Given the description of an element on the screen output the (x, y) to click on. 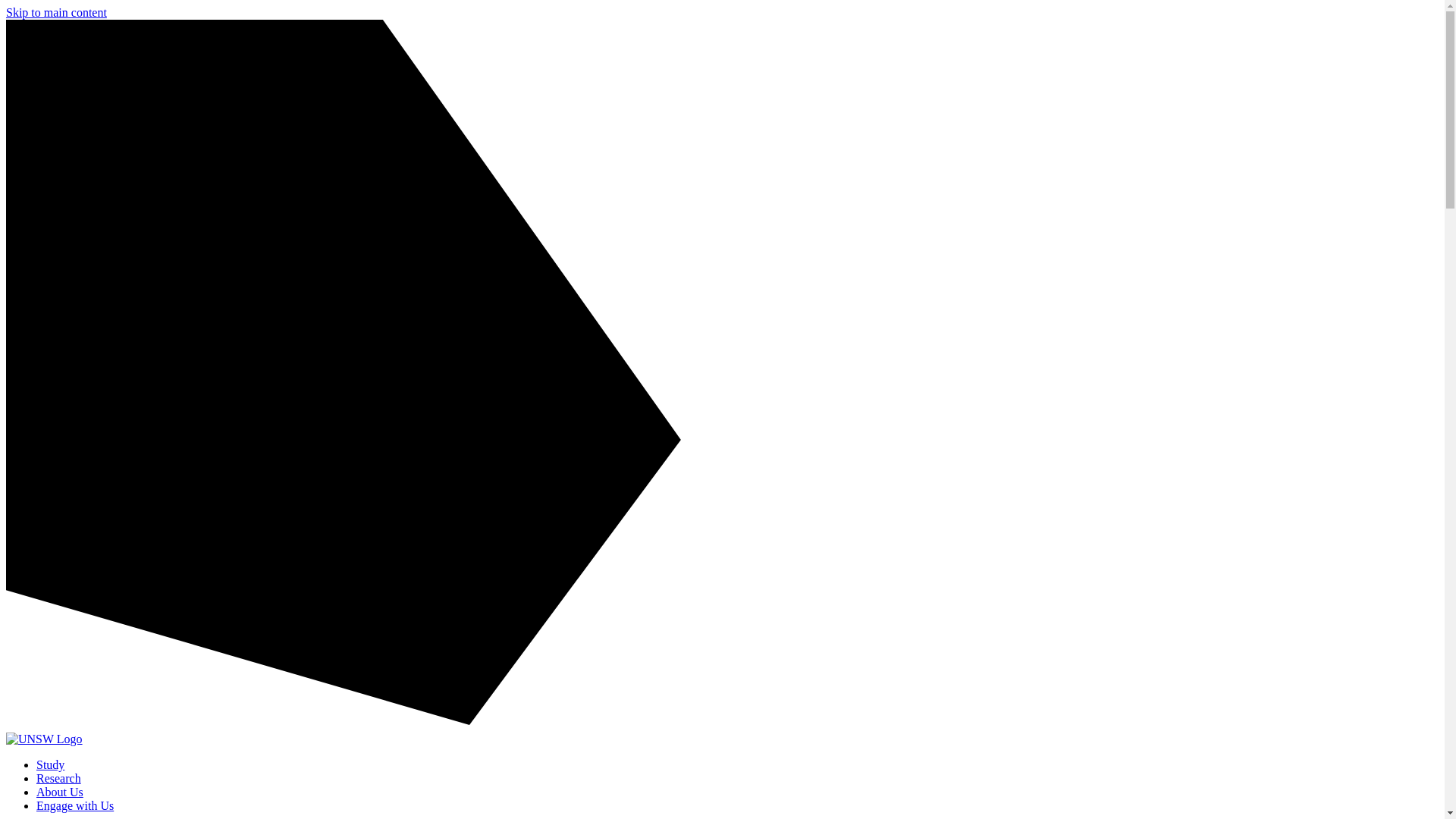
Engage with Us (74, 805)
Skip to main content (55, 11)
Research (58, 778)
Study (50, 764)
Home (43, 738)
About Us (59, 791)
